Given the description of an element on the screen output the (x, y) to click on. 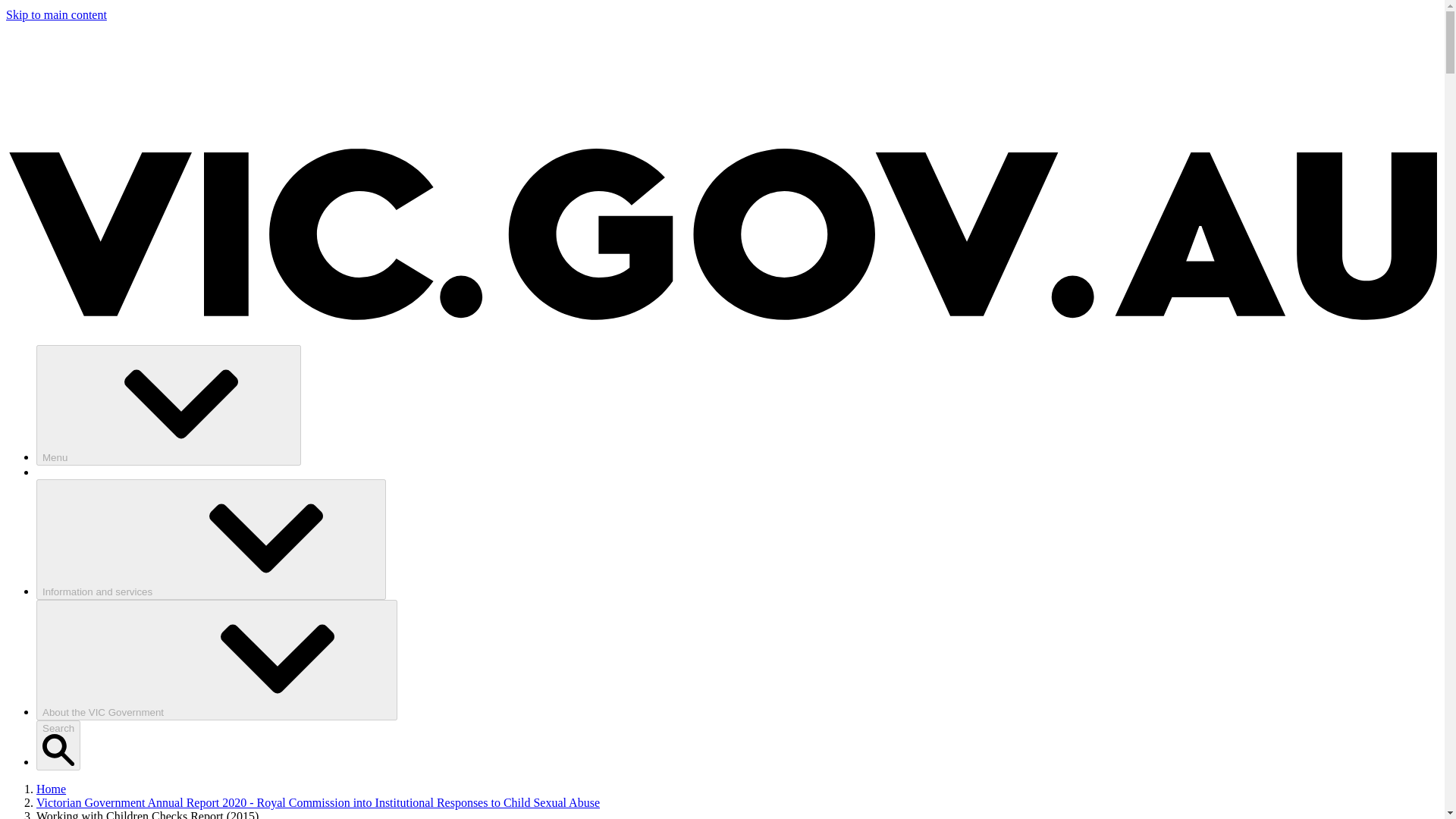
Skip to main content (55, 14)
Home (50, 788)
